Given the description of an element on the screen output the (x, y) to click on. 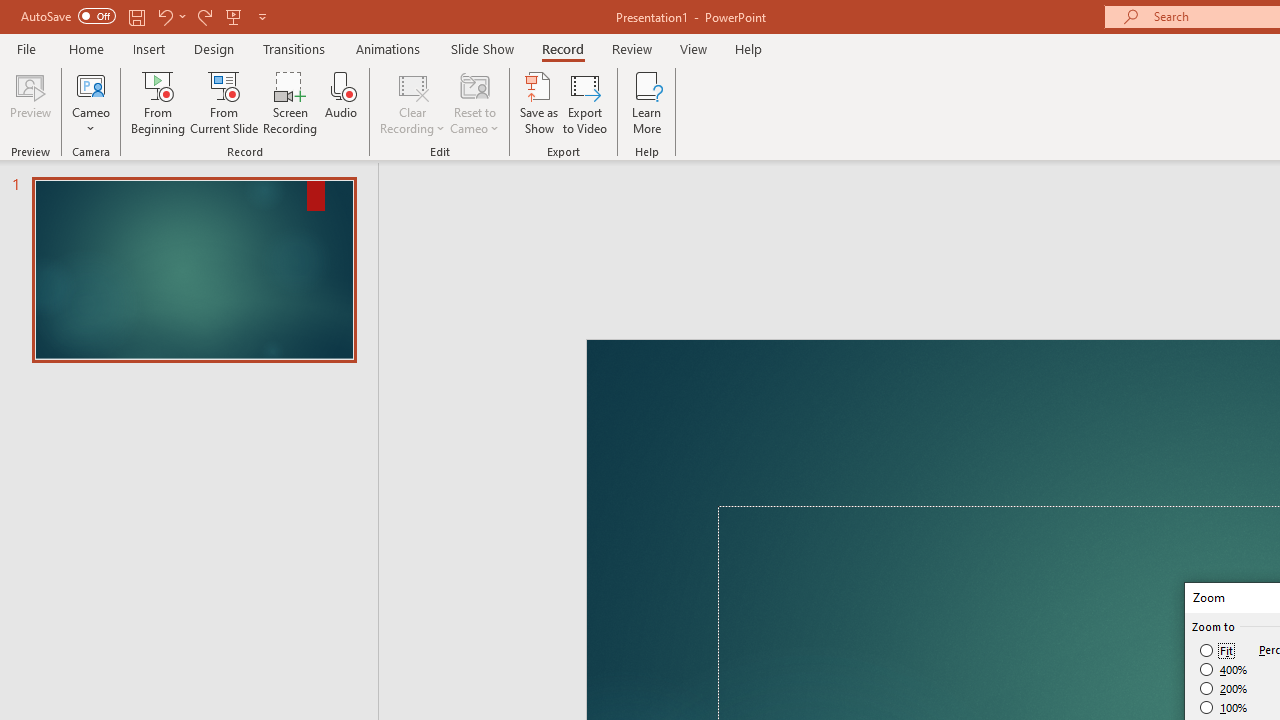
400% (1224, 669)
Clear Recording (412, 102)
Learn More (646, 102)
Fit (1217, 650)
